Given the description of an element on the screen output the (x, y) to click on. 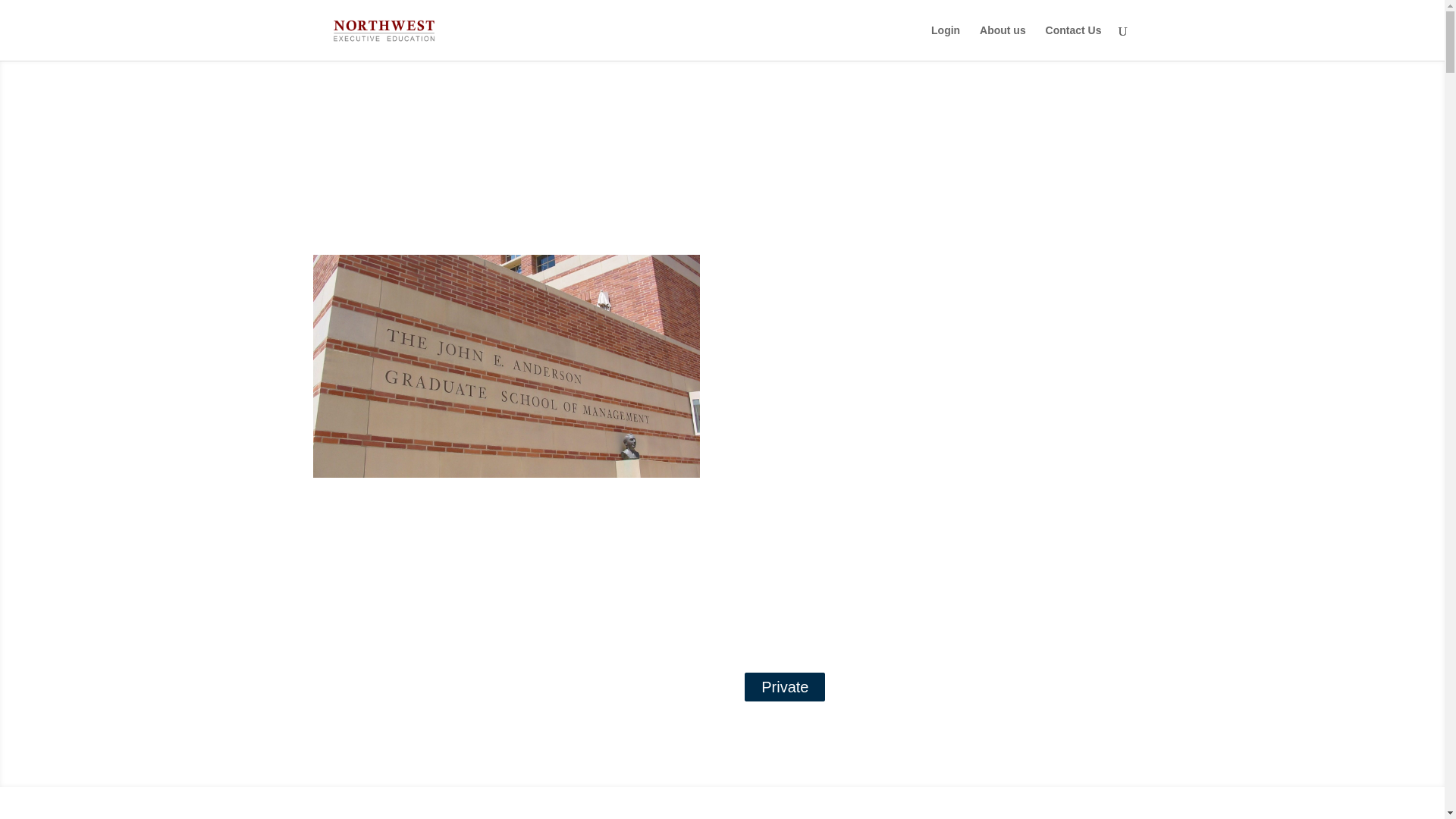
Private (784, 686)
About us (1002, 42)
Contact Us (1073, 42)
